Given the description of an element on the screen output the (x, y) to click on. 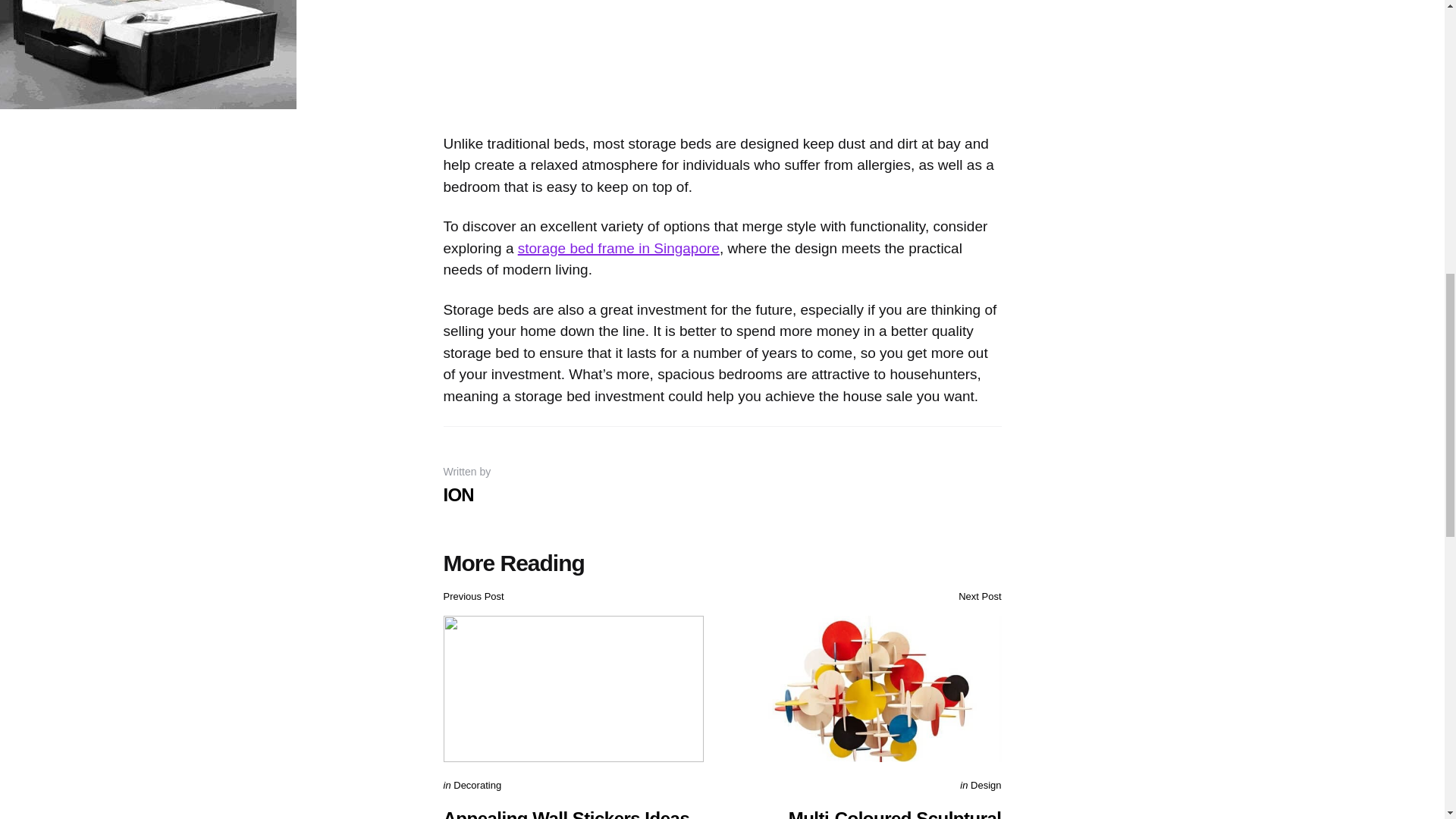
Design (986, 785)
bed (147, 54)
Multi-Coloured Sculptural Hanging Lamp with Geometric Shapes (874, 813)
Appealing Wall Stickers Ideas for Kids Bedroom (565, 813)
ION (457, 494)
storage bed frame in Singapore (618, 247)
Decorating (476, 785)
